Given the description of an element on the screen output the (x, y) to click on. 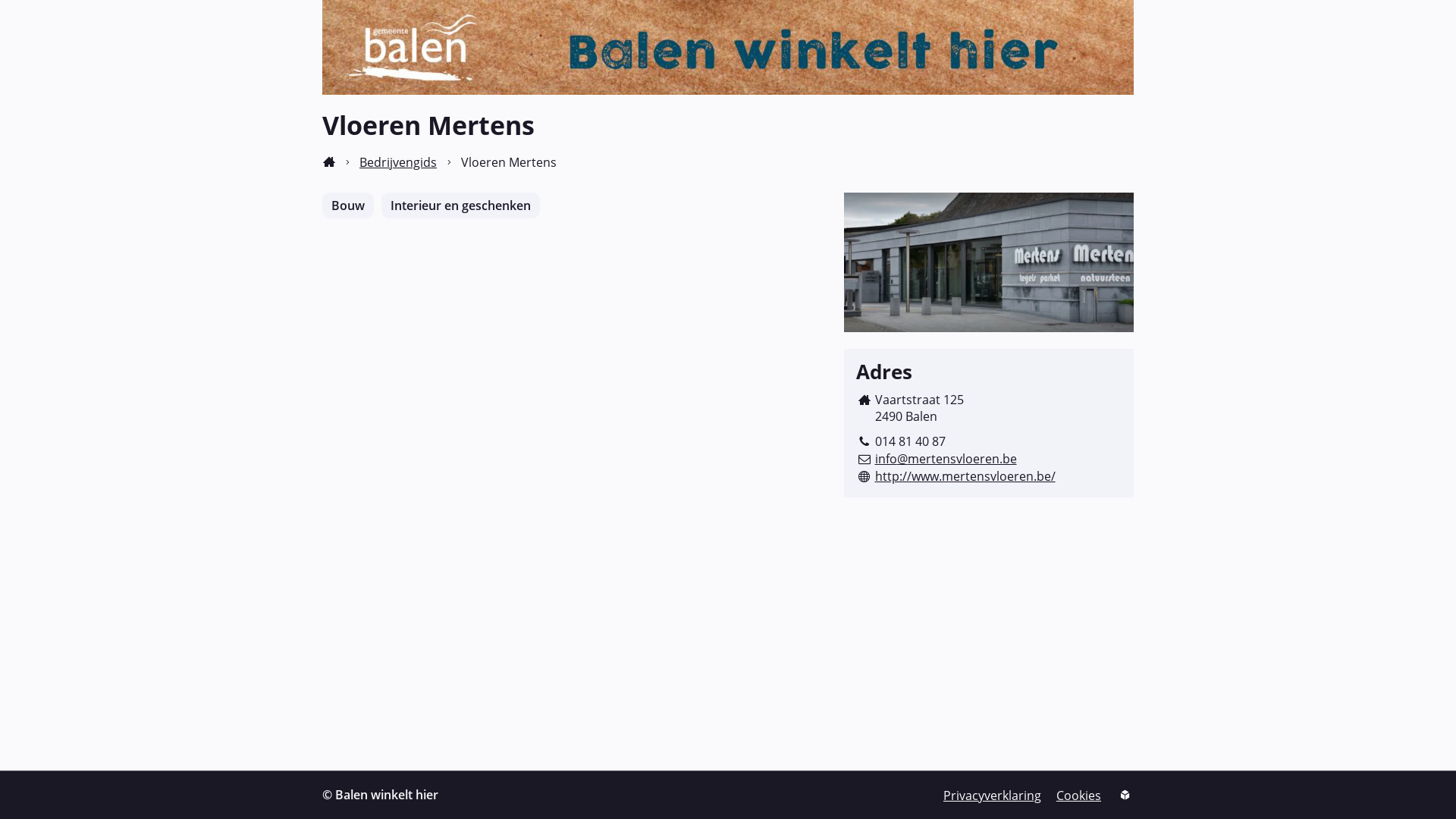
Bedrijvengids Element type: text (397, 162)
Privacyverklaring Element type: text (992, 795)
info@mertensvloeren.be Element type: text (945, 458)
Cookies Element type: text (1078, 795)
014 81 40 87 Element type: text (910, 441)
Home Element type: text (328, 161)
http://www.mertensvloeren.be/ Element type: text (965, 475)
